Given the description of an element on the screen output the (x, y) to click on. 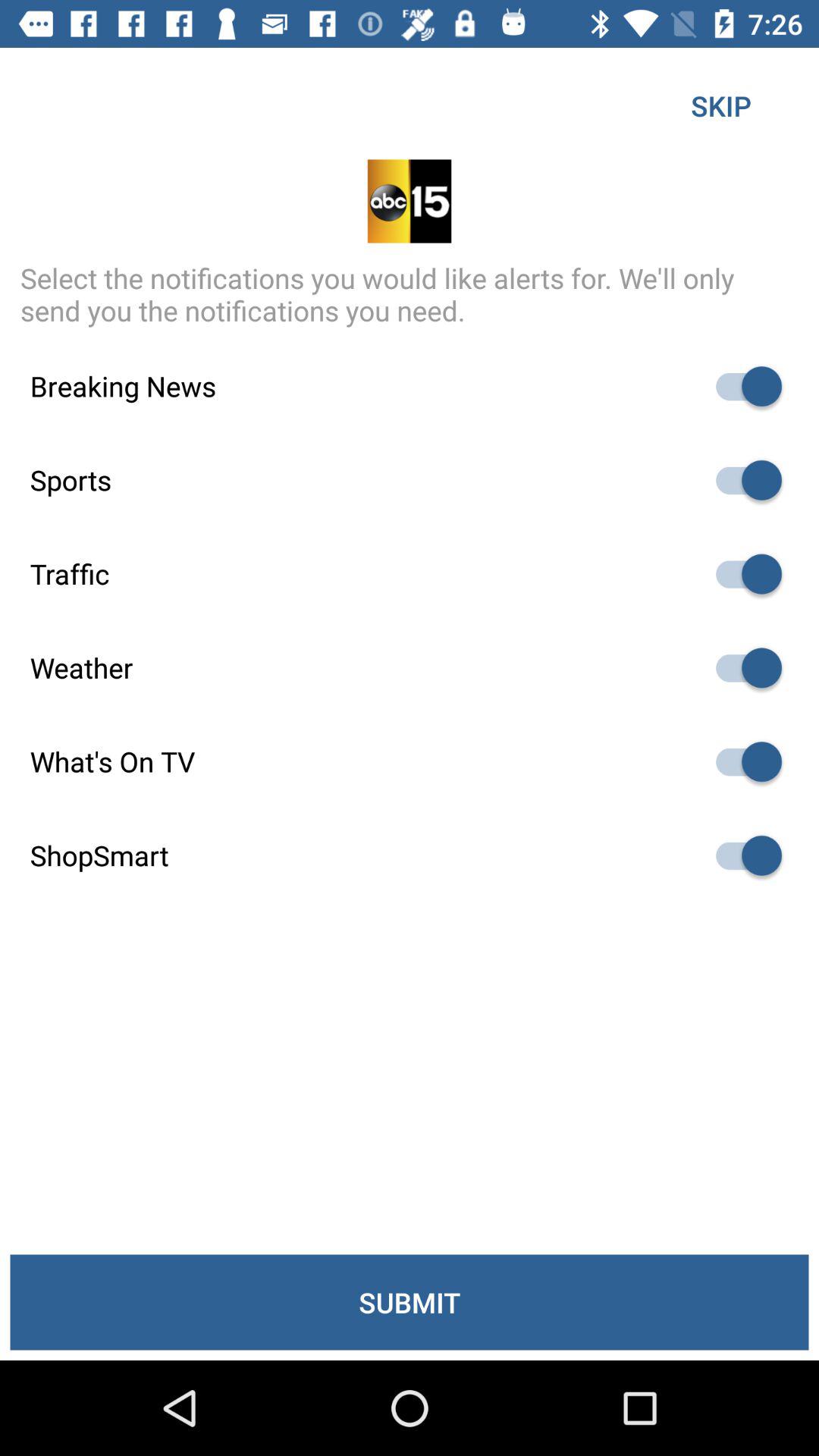
toggle tv guide option (741, 761)
